Given the description of an element on the screen output the (x, y) to click on. 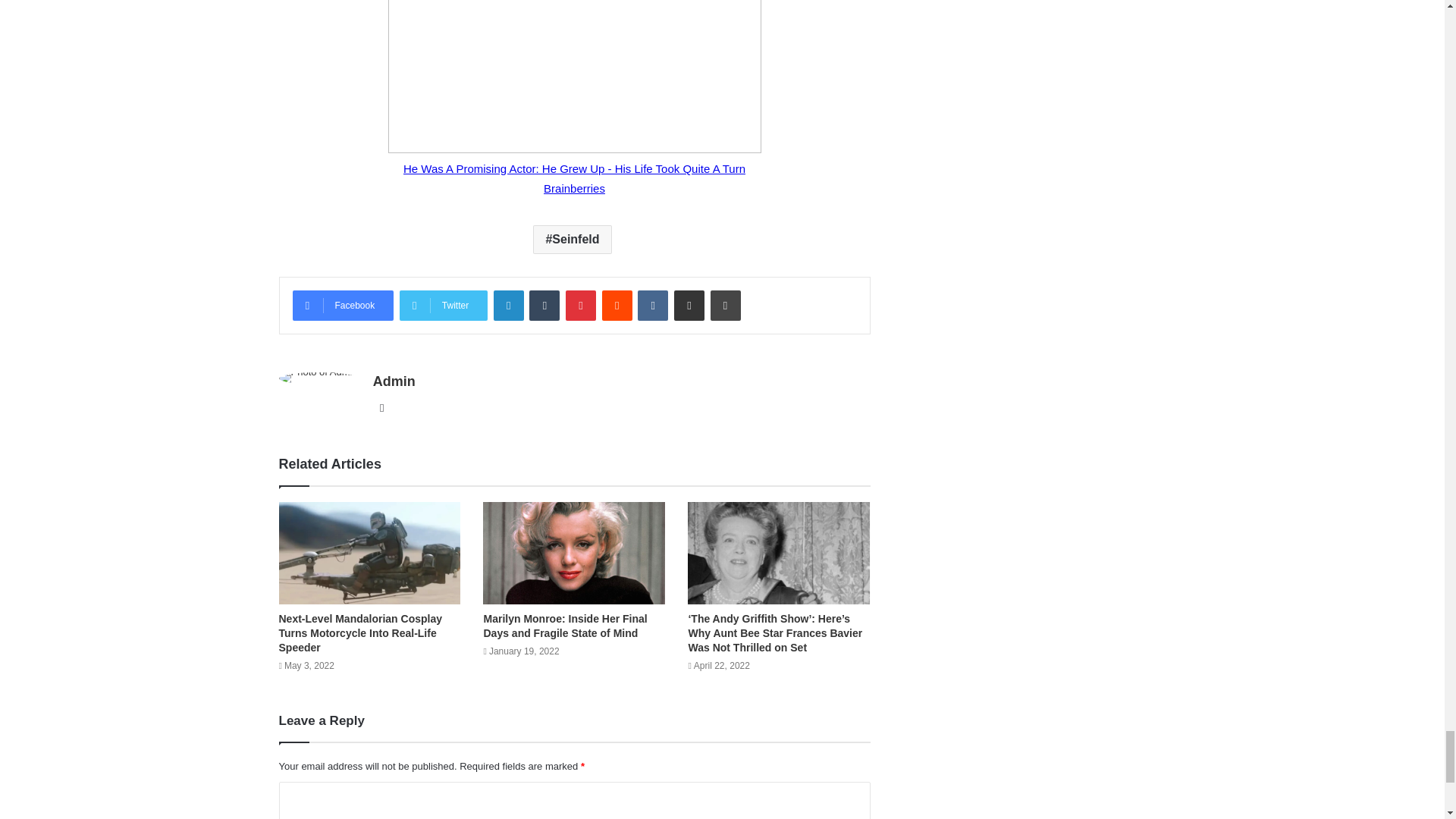
Pinterest (580, 305)
Tumblr (544, 305)
LinkedIn (508, 305)
Print (725, 305)
Pinterest (580, 305)
Facebook (343, 305)
Admin (393, 381)
Share via Email (689, 305)
Twitter (442, 305)
Reddit (616, 305)
Print (725, 305)
Seinfeld (571, 239)
Tumblr (544, 305)
